Given the description of an element on the screen output the (x, y) to click on. 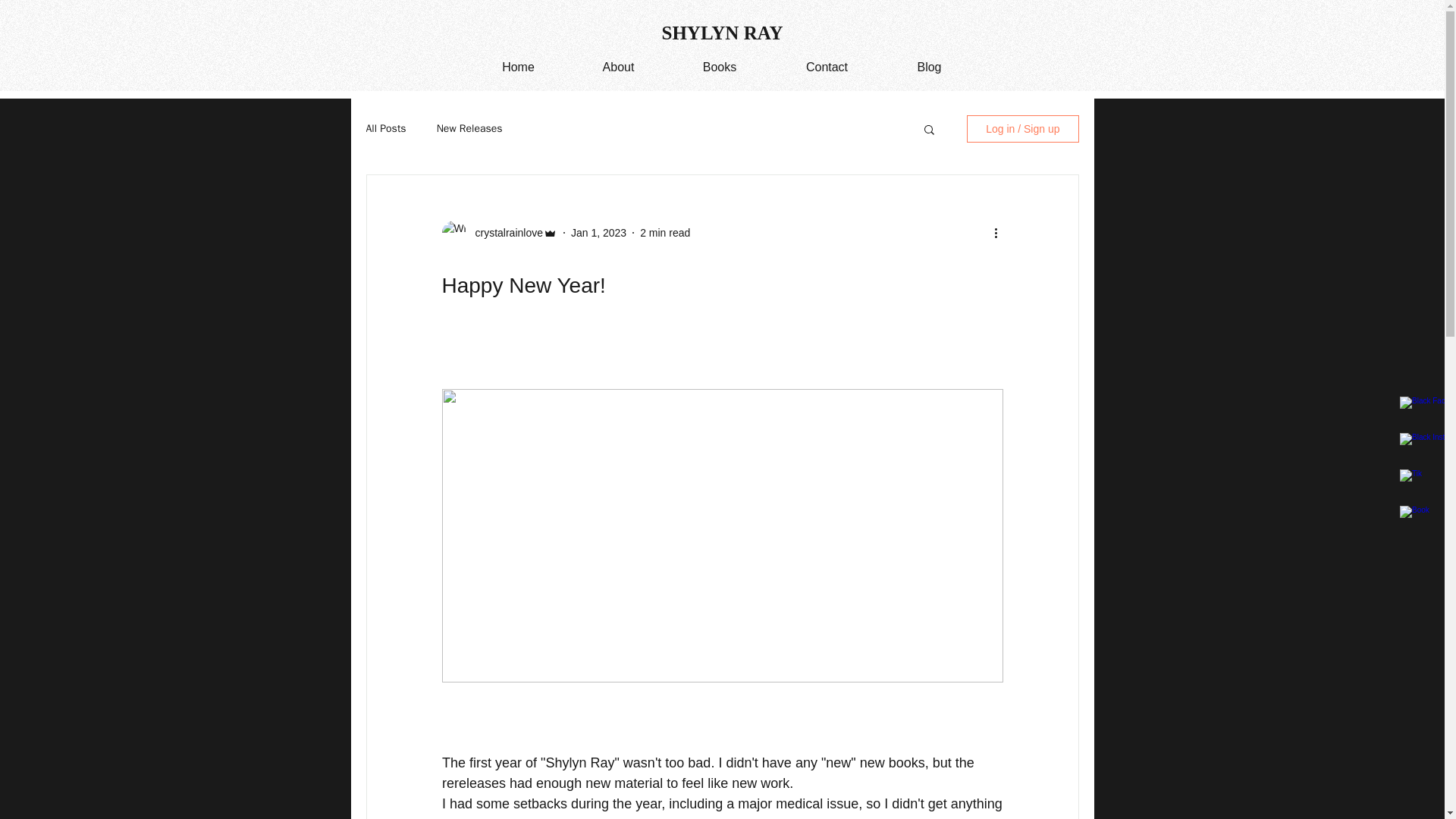
Contact (826, 67)
Jan 1, 2023 (598, 232)
Books (719, 67)
SHYLYN RAY (722, 32)
2 min read (665, 232)
crystalrainlove (503, 232)
Blog (929, 67)
About (617, 67)
New Releases (469, 128)
Home (517, 67)
All Posts (385, 128)
